Given the description of an element on the screen output the (x, y) to click on. 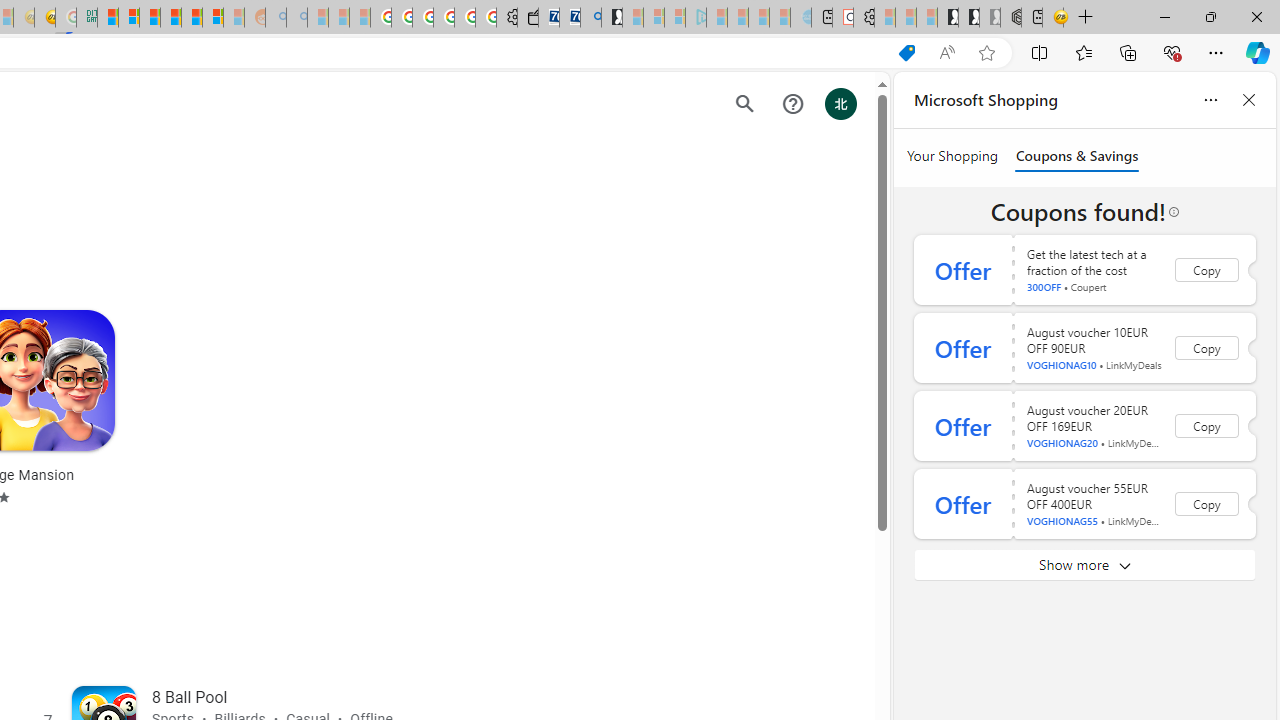
Home | Sky Blue Bikes - Sky Blue Bikes - Sleeping (801, 17)
This site has coupons! Shopping in Microsoft Edge (906, 53)
Microsoft account | Privacy - Sleeping (674, 17)
Play Free Online Games | Games from Microsoft Start (947, 17)
Wallet (527, 17)
